Given the description of an element on the screen output the (x, y) to click on. 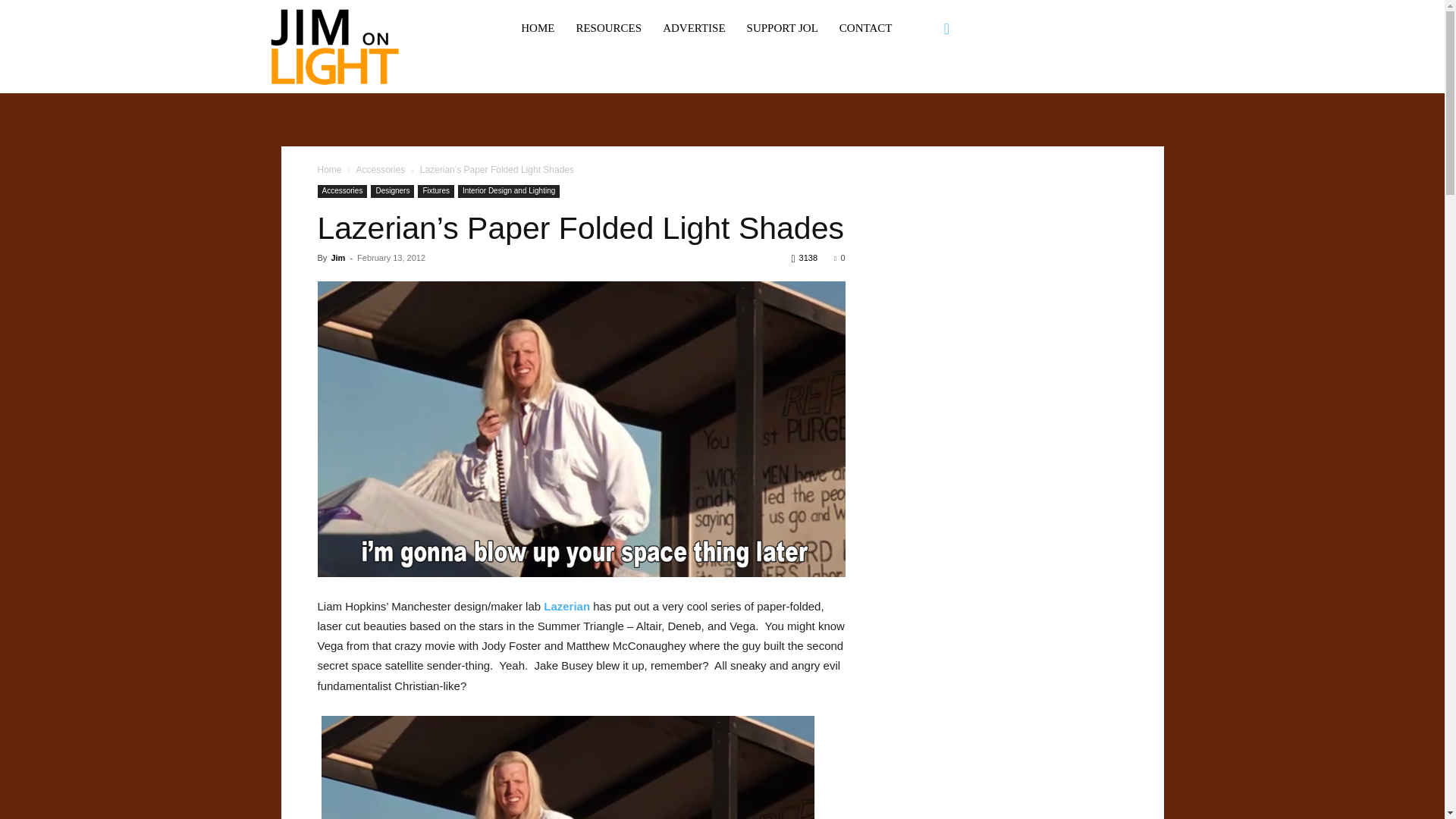
Interior Design and Lighting (508, 191)
SUPPORT JOL (782, 28)
Fixtures (435, 191)
Designers (392, 191)
Home (328, 169)
0 (839, 257)
Accessories (379, 169)
Jim (337, 257)
View all posts in Accessories (379, 169)
ADVERTISE (693, 28)
